Given the description of an element on the screen output the (x, y) to click on. 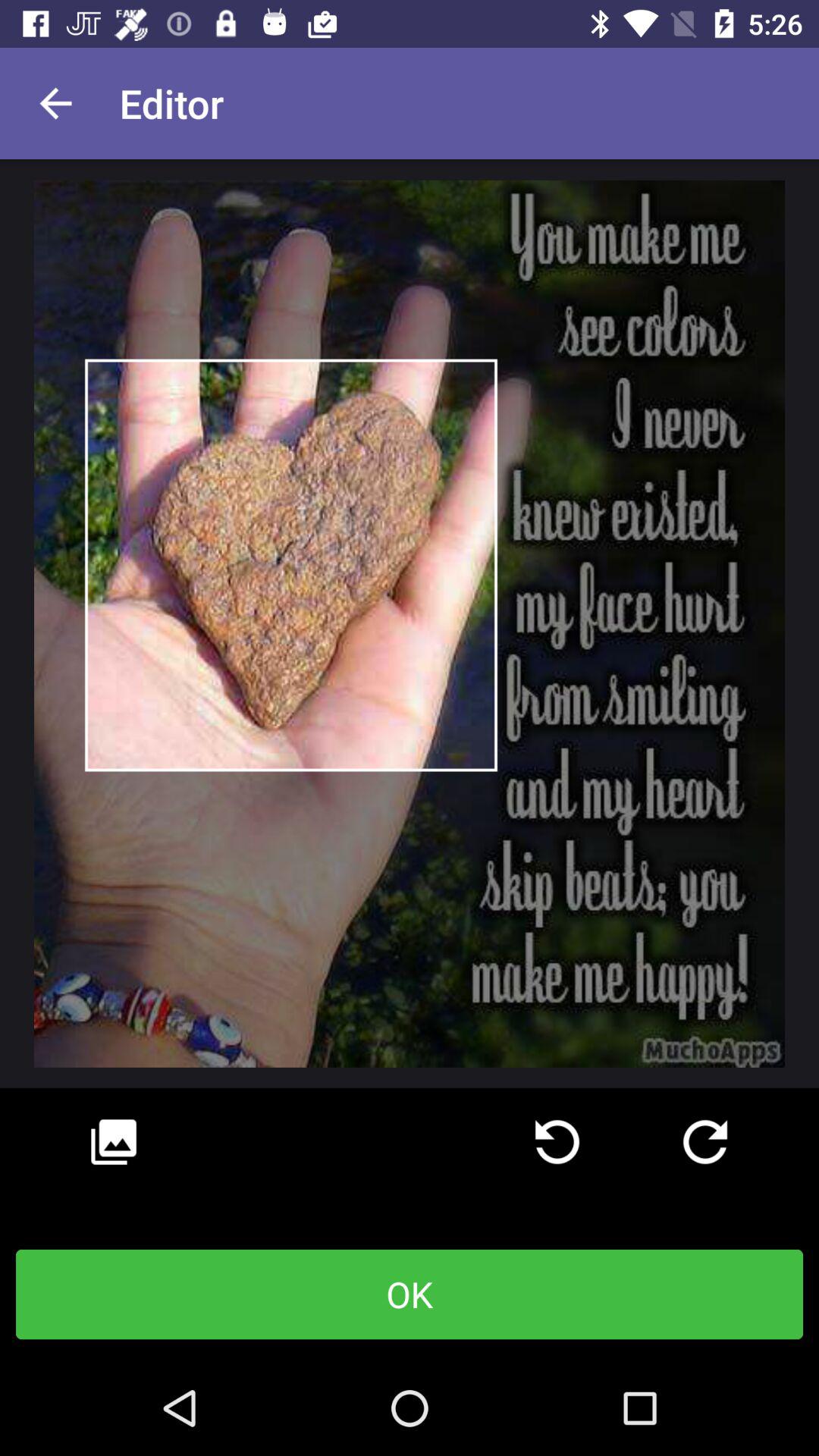
refresh (557, 1142)
